Given the description of an element on the screen output the (x, y) to click on. 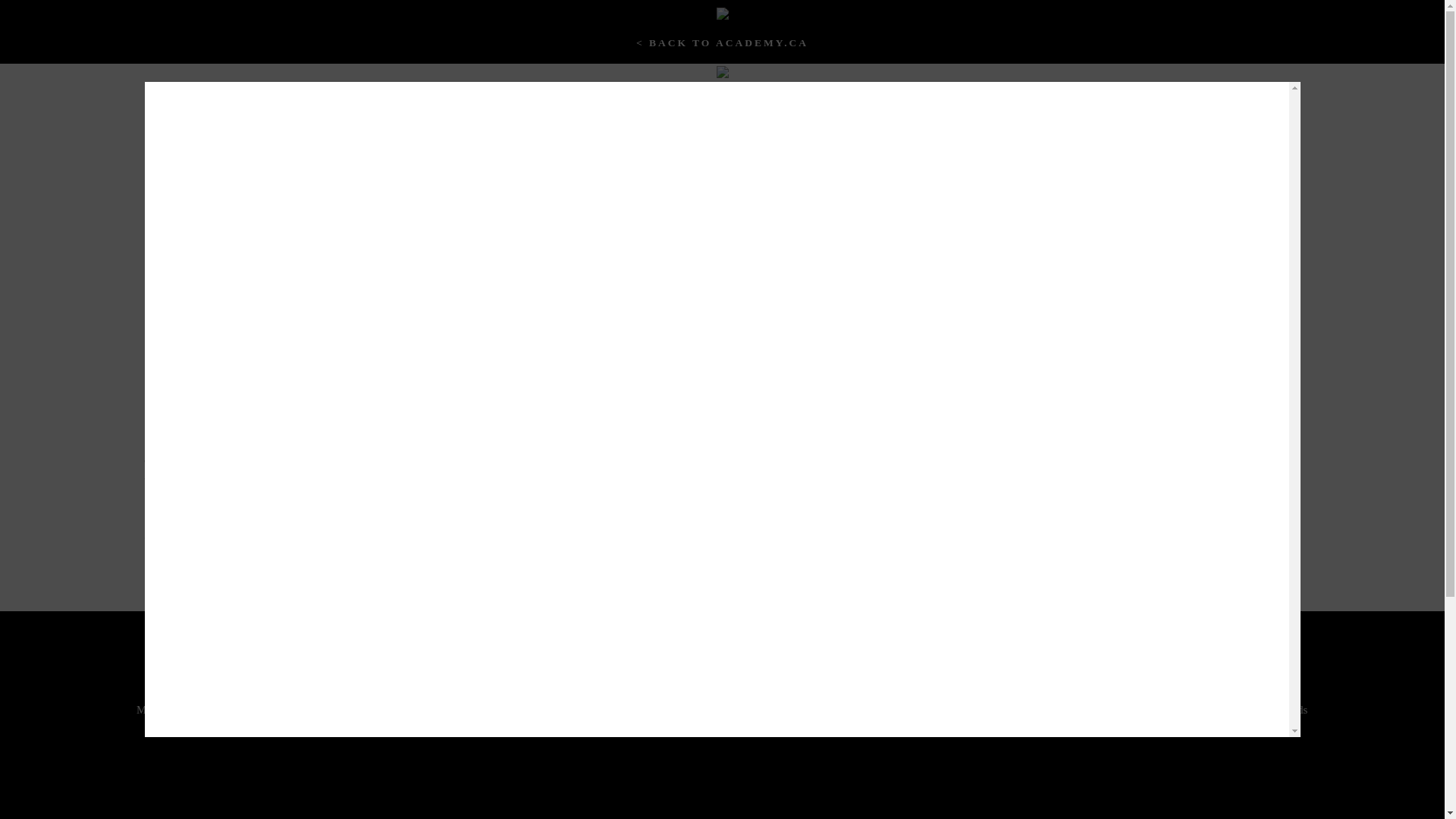
FAQ Element type: text (1261, 481)
RULES Element type: text (1261, 430)
< BACK TO ACADEMY.CA Element type: text (722, 42)
RULES Element type: text (1261, 420)
YouTube video player Element type: hover (721, 244)
@thecdnacademy! Element type: text (525, 534)
